Given the description of an element on the screen output the (x, y) to click on. 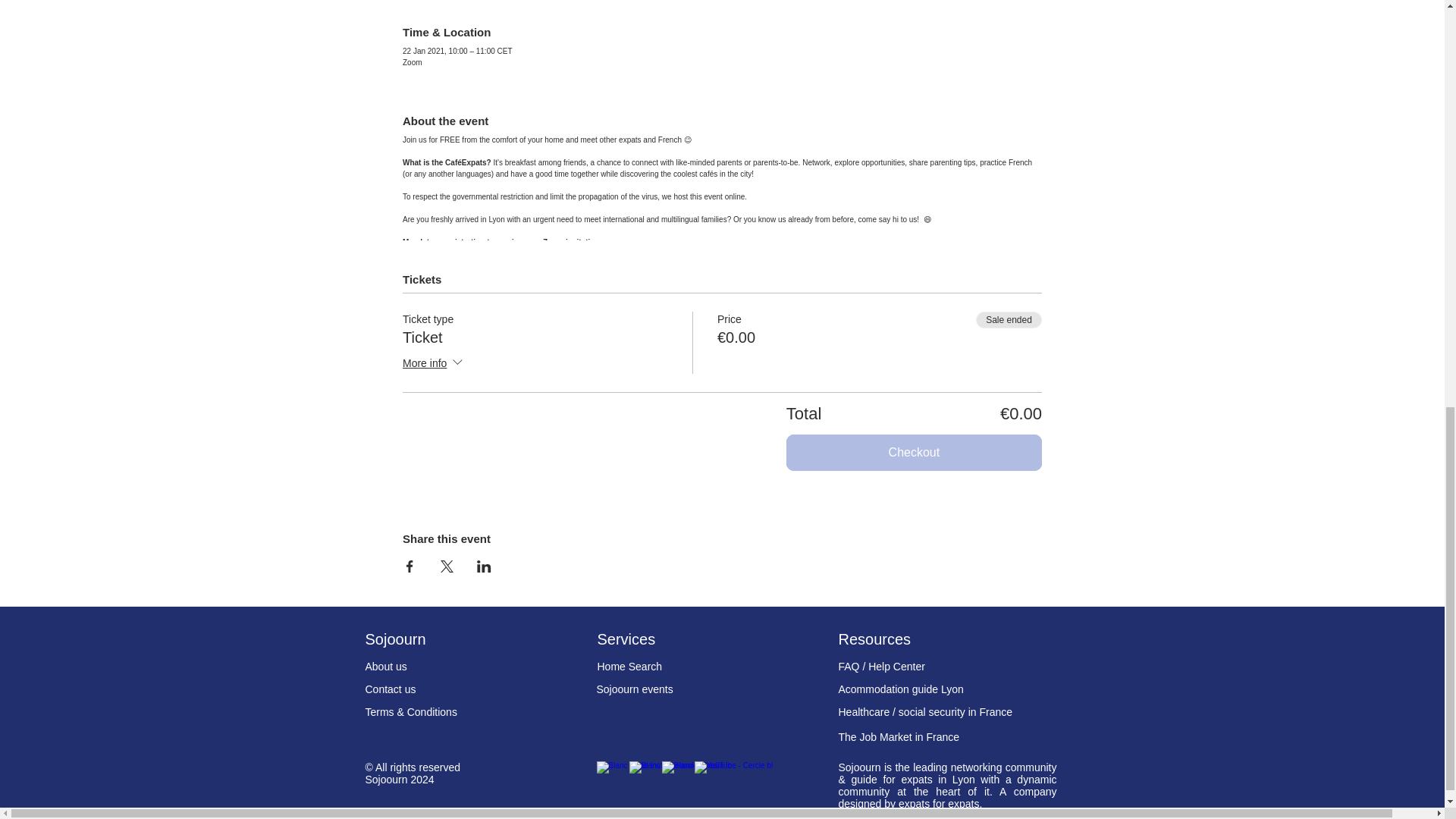
More info (434, 363)
Checkout (914, 452)
About us (386, 666)
Home Search (629, 666)
